Given the description of an element on the screen output the (x, y) to click on. 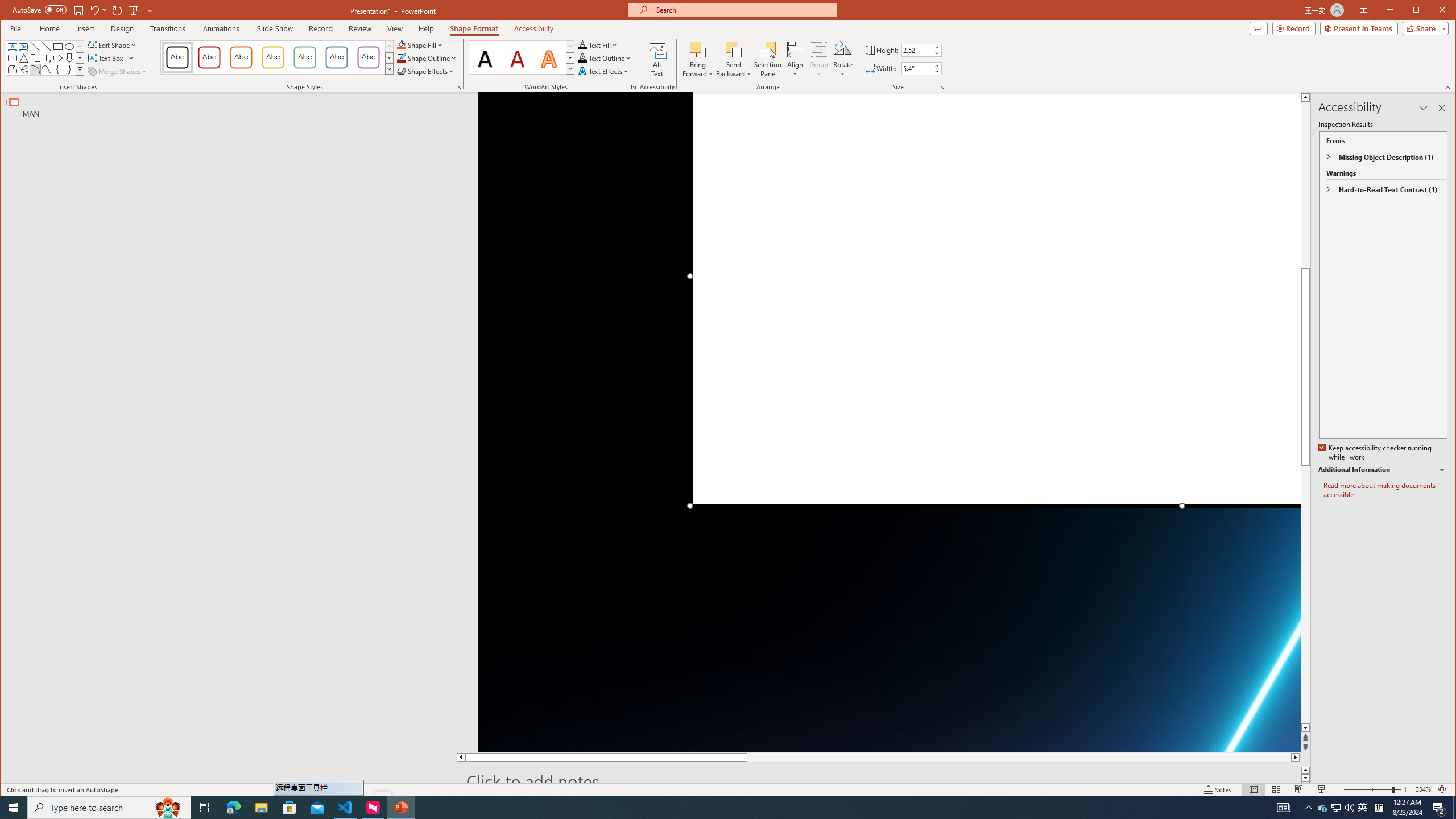
Line down (1305, 728)
Running applications (700, 807)
AutomationID: TextStylesGallery (1362, 807)
File Tab (521, 57)
Text Effects (15, 27)
Shape Fill Orange, Accent 2 (603, 70)
Freeform: Scribble (400, 44)
Quick Styles (23, 69)
Quick Access Toolbar (570, 68)
